Given the description of an element on the screen output the (x, y) to click on. 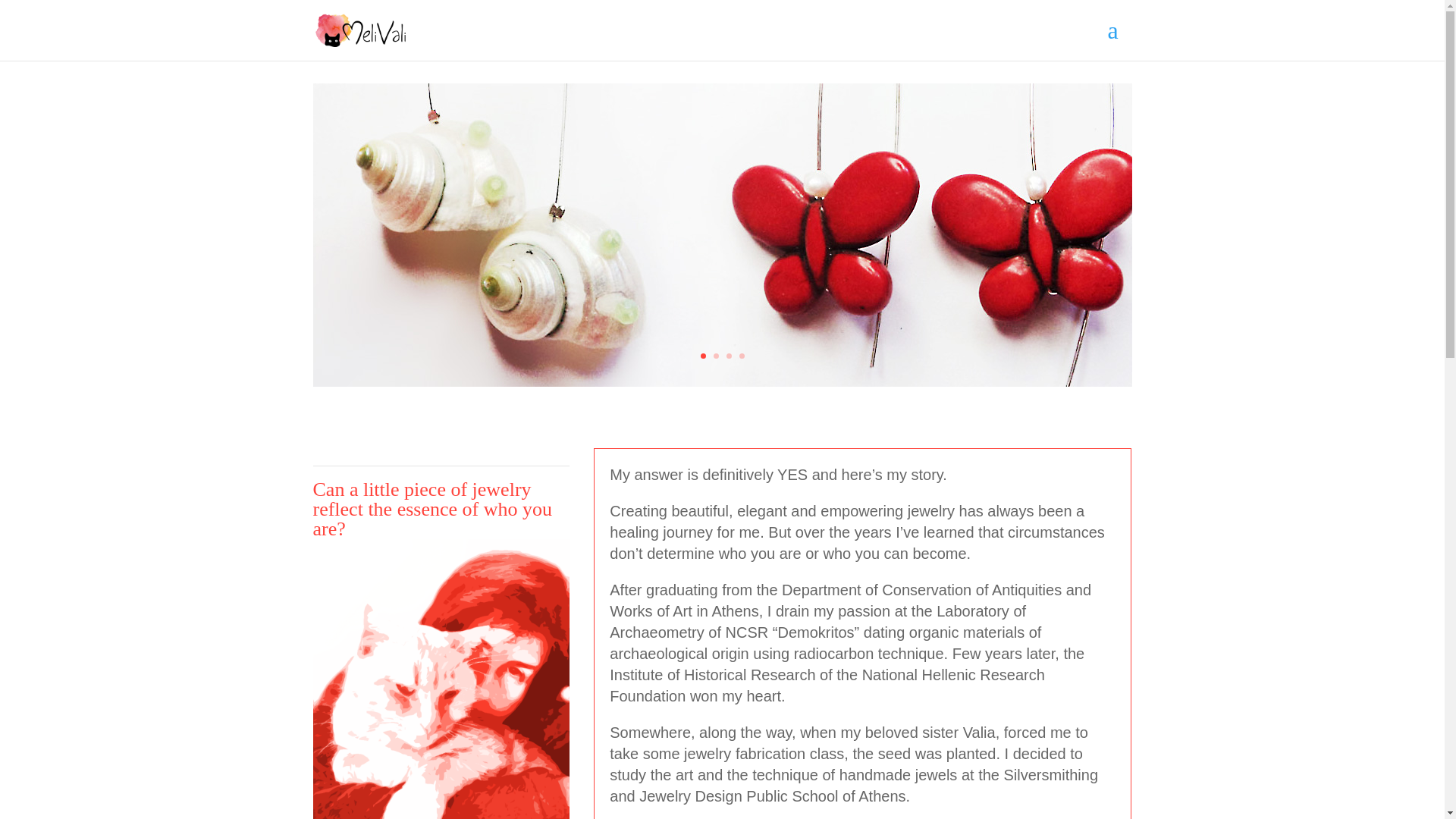
4 (741, 355)
1 (703, 355)
3 (729, 355)
